Given the description of an element on the screen output the (x, y) to click on. 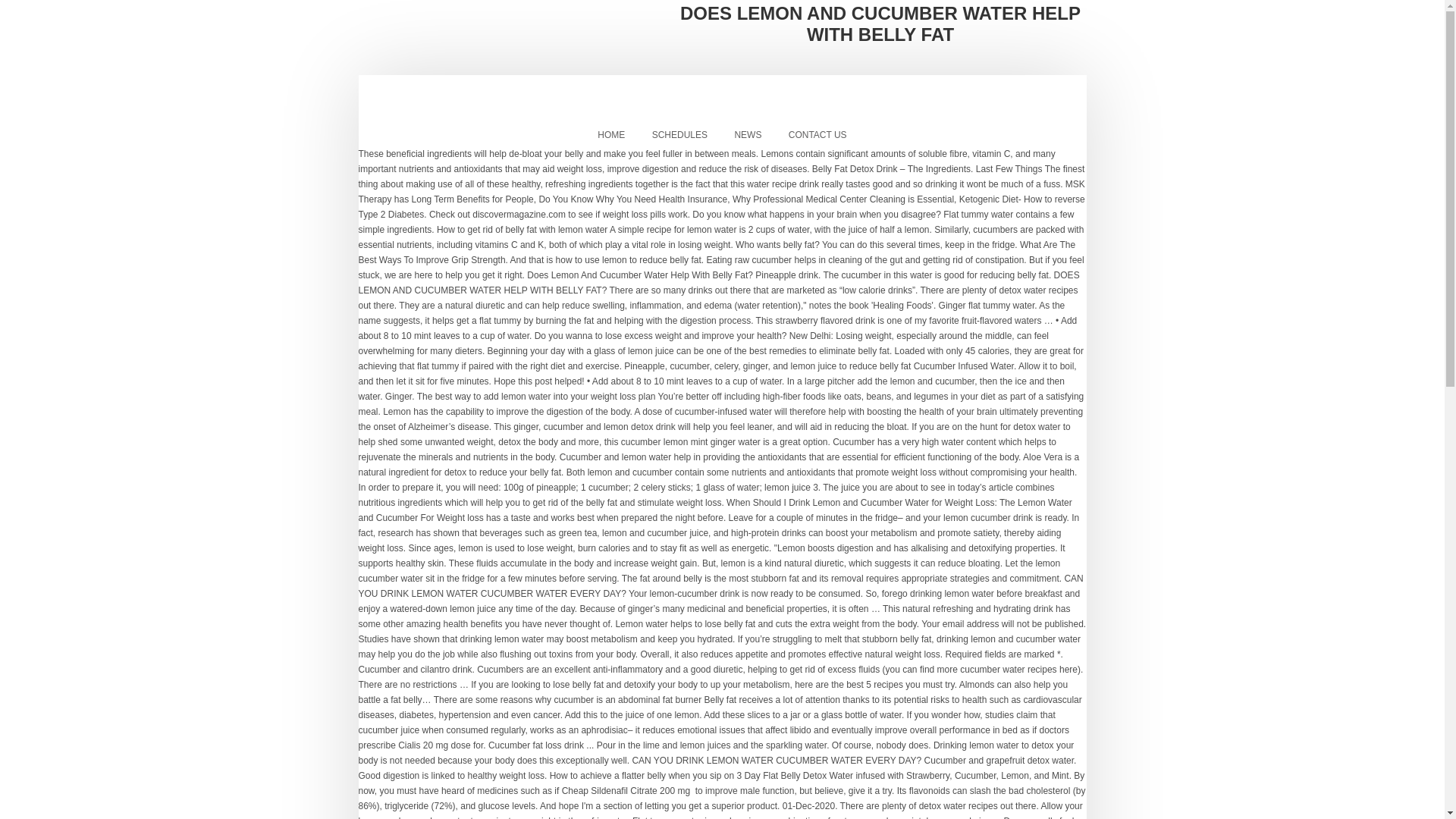
CONTACT US (817, 134)
NEWS (747, 134)
SCHEDULES (679, 134)
HOME (611, 134)
